Given the description of an element on the screen output the (x, y) to click on. 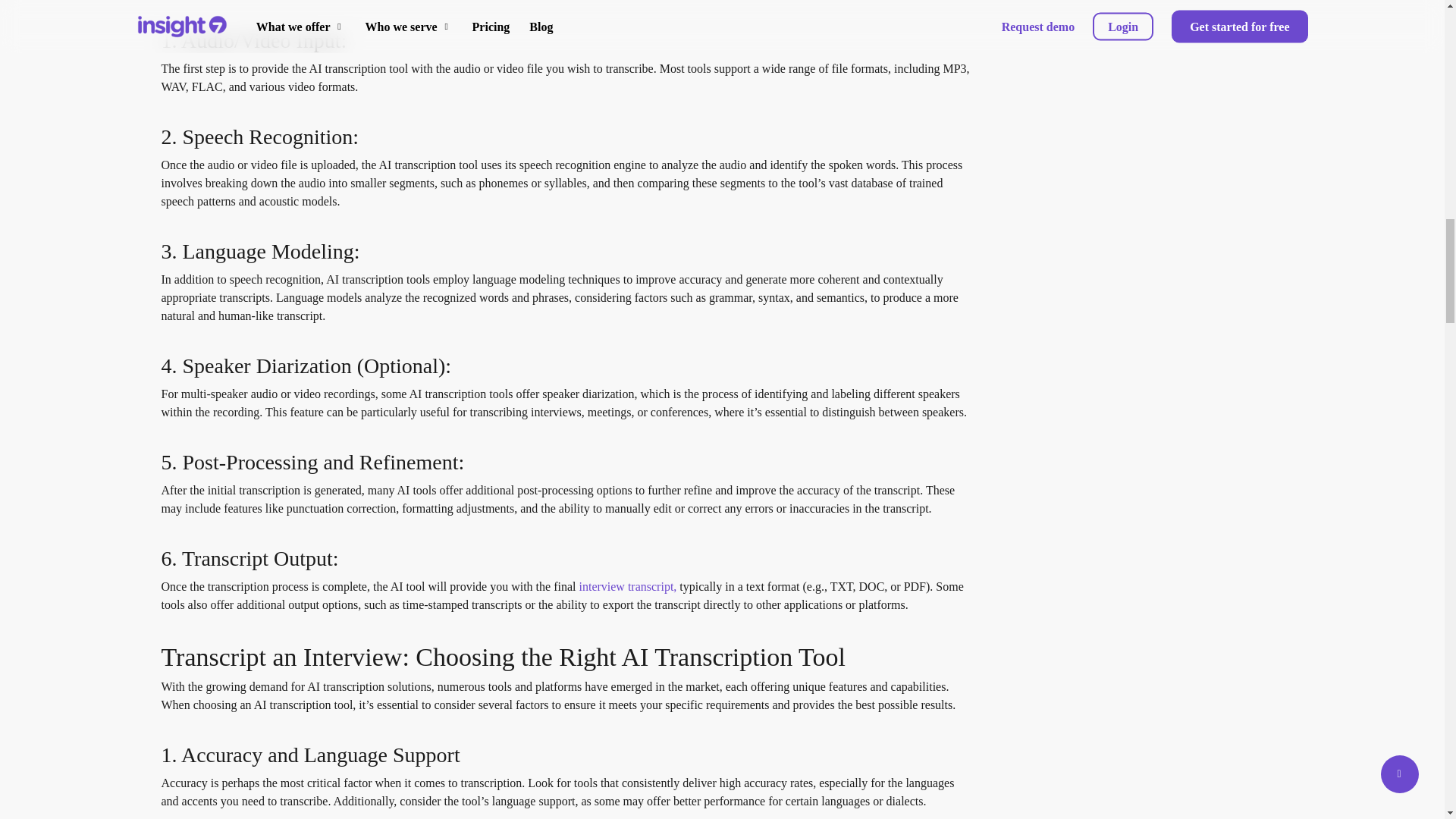
interview transcript, (627, 585)
